Given the description of an element on the screen output the (x, y) to click on. 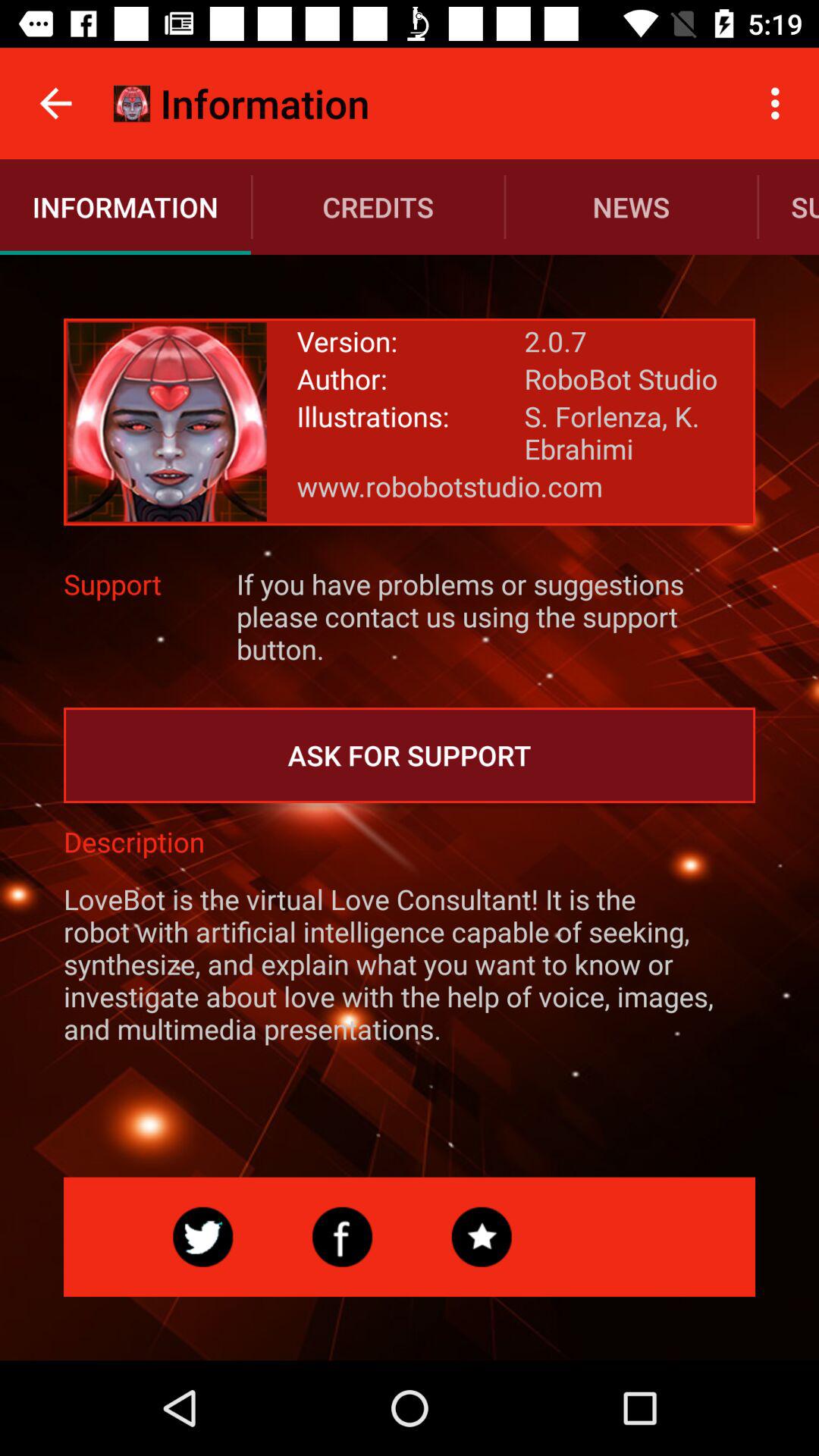
share on facebook (342, 1236)
